Given the description of an element on the screen output the (x, y) to click on. 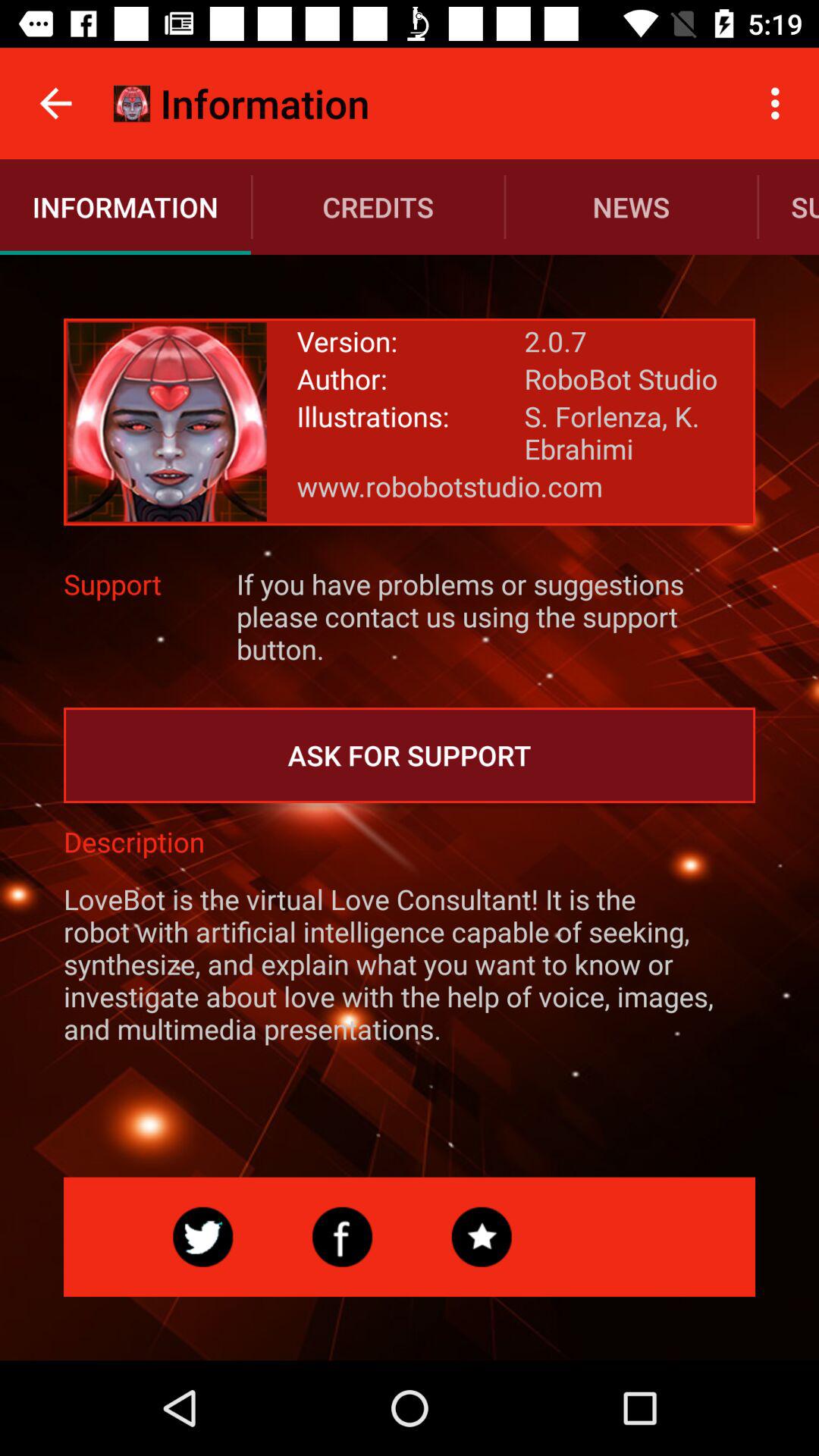
share on facebook (342, 1236)
